Given the description of an element on the screen output the (x, y) to click on. 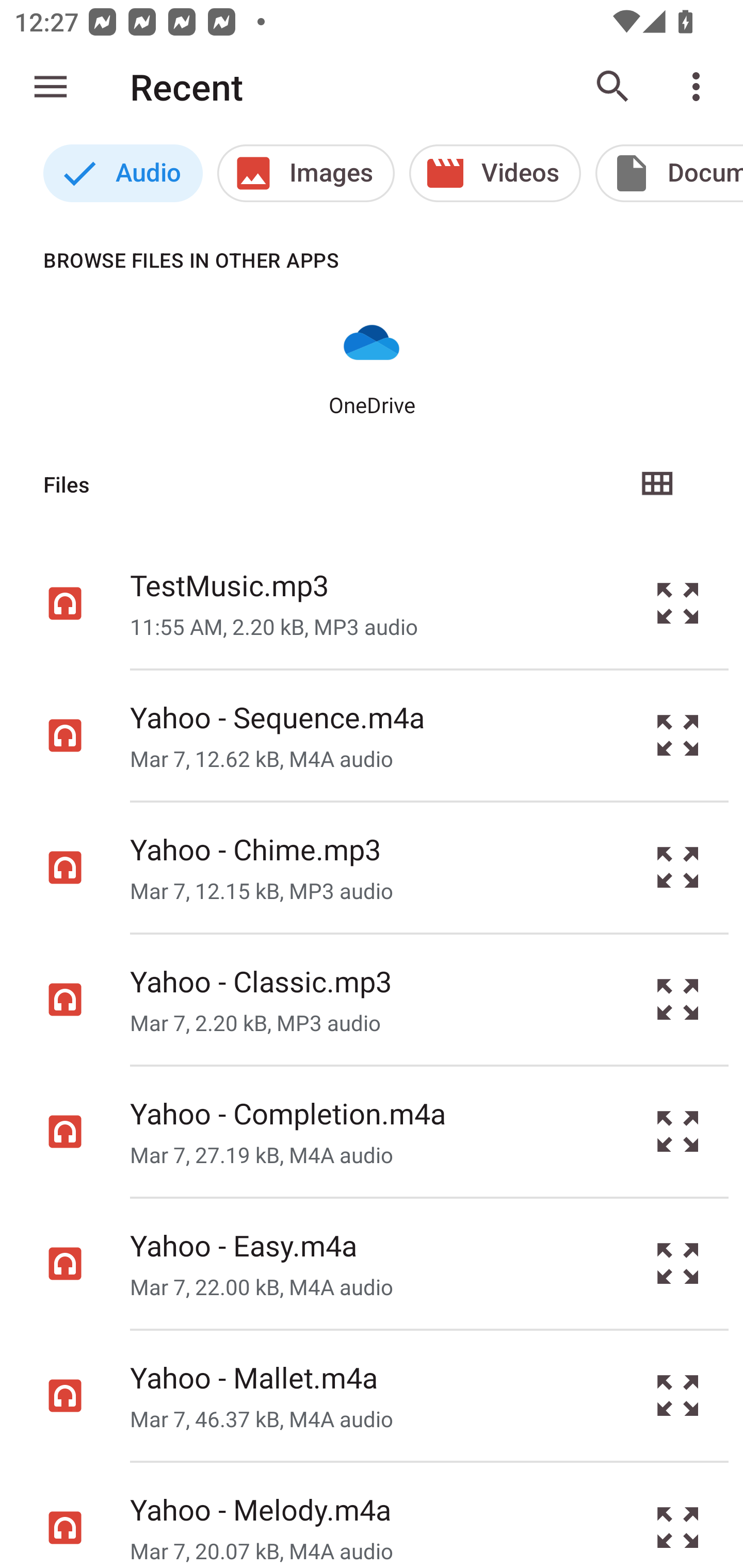
Show roots (50, 86)
Search (612, 86)
More options (699, 86)
Audio (122, 173)
Images (305, 173)
Videos (495, 173)
Documents (669, 173)
OneDrive (371, 365)
Grid view (655, 484)
Preview the file TestMusic.mp3 (677, 602)
Preview the file Yahoo - Sequence.m4a (677, 736)
Preview the file Yahoo - Chime.mp3 (677, 867)
Preview the file Yahoo - Classic.mp3 (677, 999)
Preview the file Yahoo - Completion.m4a (677, 1131)
Preview the file Yahoo - Easy.m4a (677, 1262)
Preview the file Yahoo - Mallet.m4a (677, 1396)
Preview the file Yahoo - Melody.m4a (677, 1515)
